Given the description of an element on the screen output the (x, y) to click on. 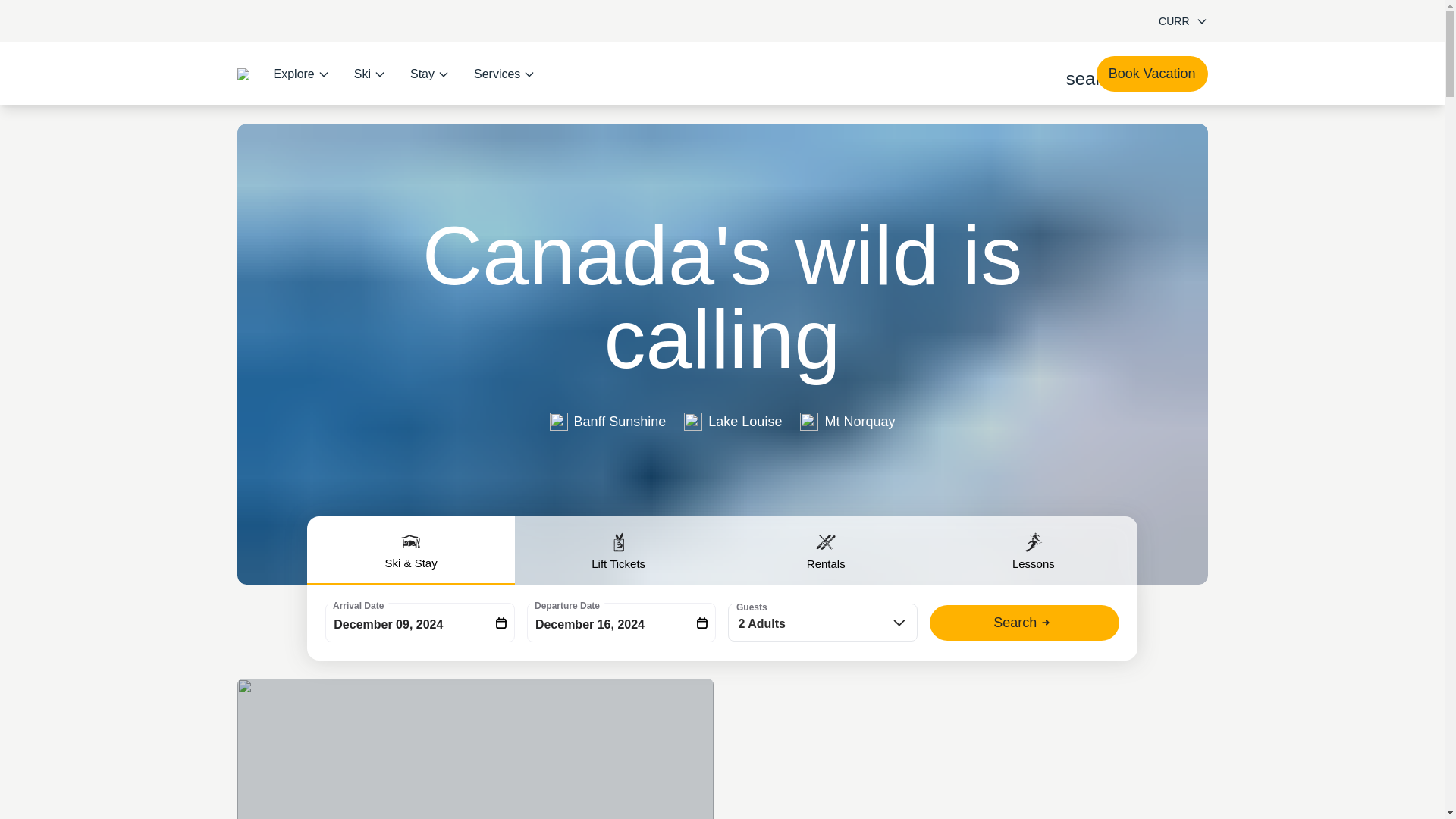
search (1074, 74)
Search (1024, 622)
Book Vacation (1152, 73)
December 16, 2024 (621, 622)
Book Vacation (1152, 73)
Rentals (826, 550)
December 09, 2024 (419, 622)
Lessons (1033, 550)
Lift Tickets (618, 550)
Search (1024, 622)
